Given the description of an element on the screen output the (x, y) to click on. 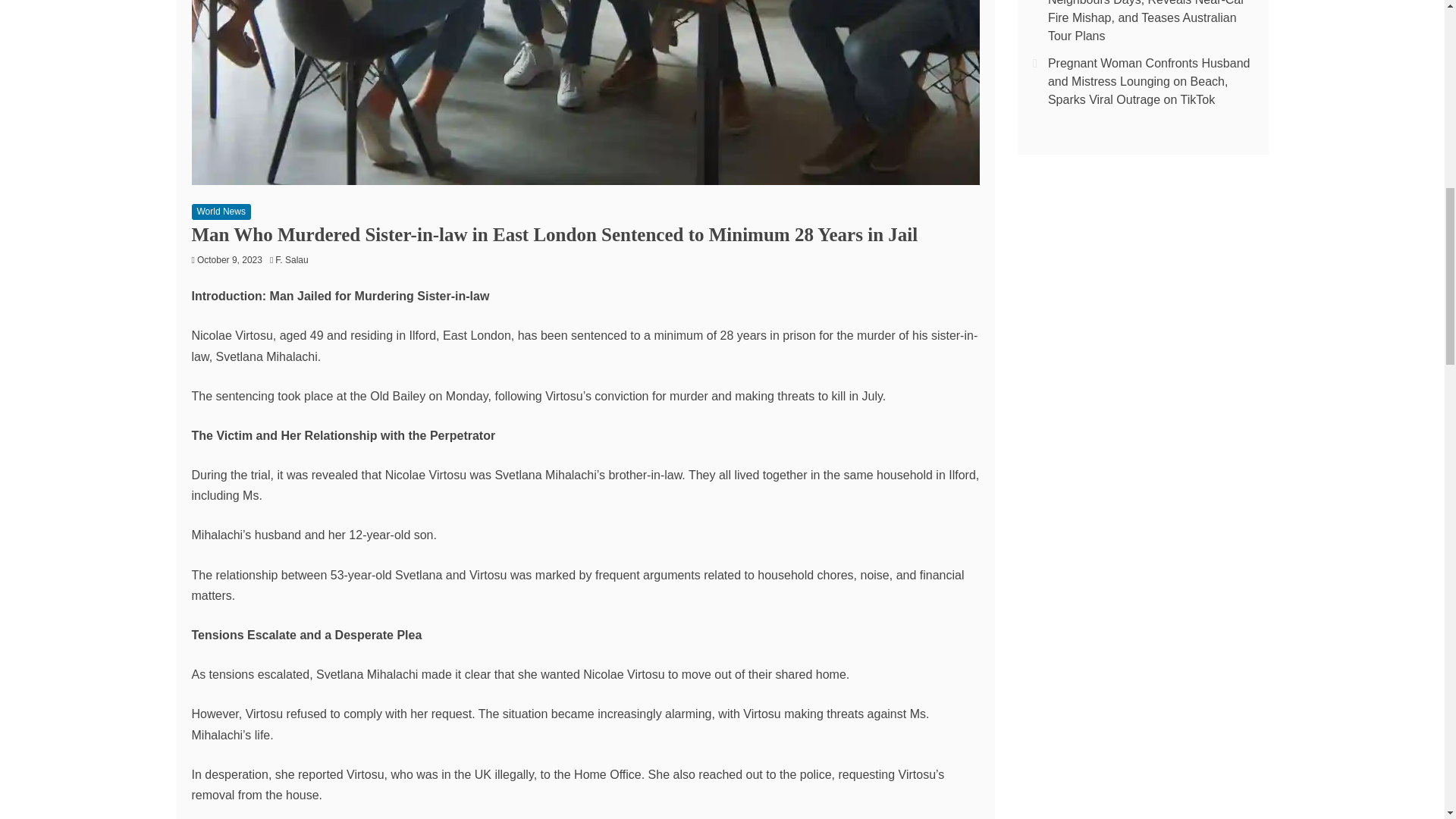
World News (220, 211)
October 9, 2023 (229, 259)
F. Salau (295, 259)
